Given the description of an element on the screen output the (x, y) to click on. 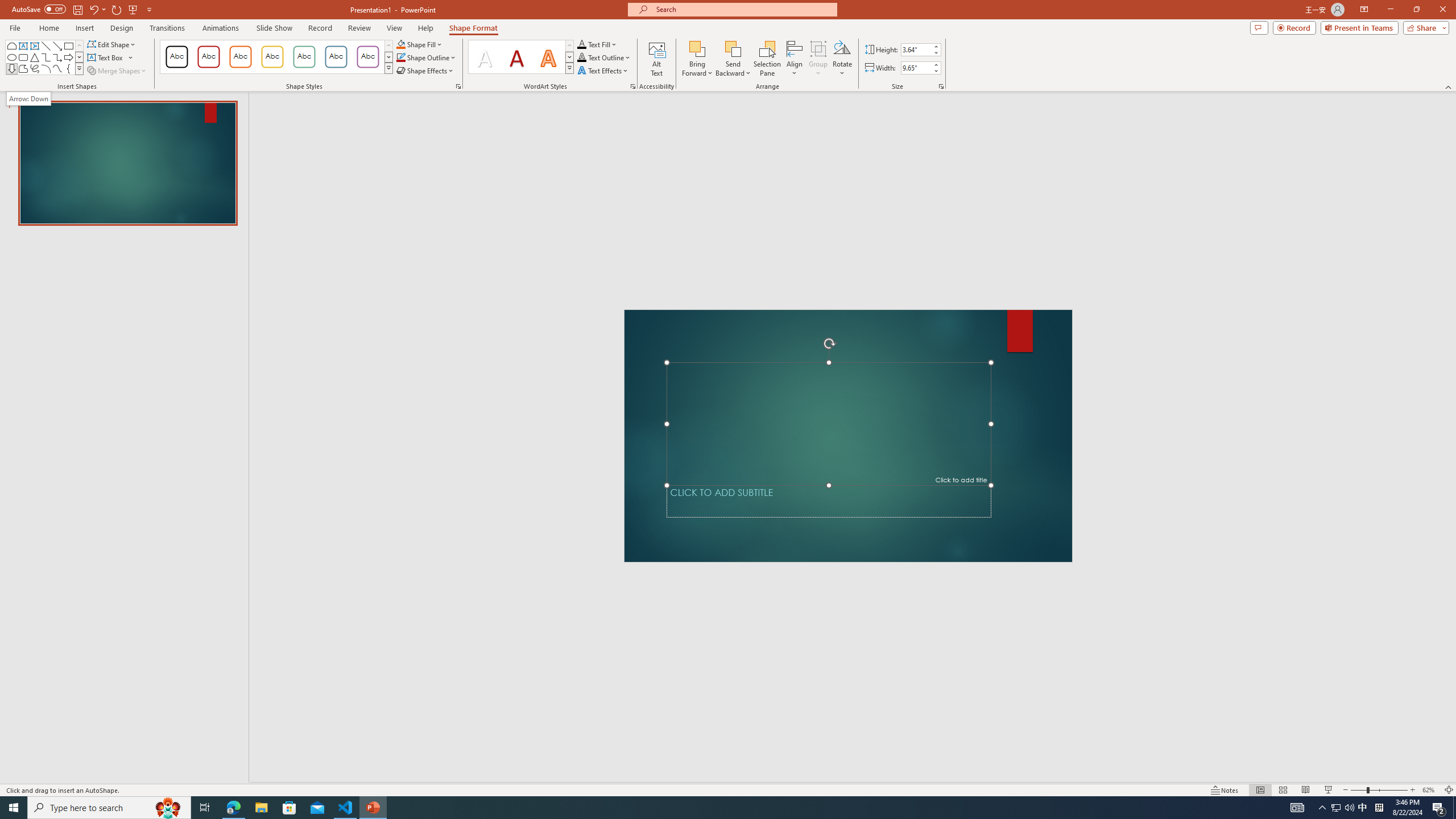
Fill: White, Text color 1; Shadow (484, 56)
Group (817, 58)
Bring Forward (697, 48)
Bring Forward (697, 58)
Subtitle TextBox (828, 500)
Fill: Dark Red, Accent color 1; Shadow (516, 56)
Text Outline RGB(0, 0, 0) (581, 56)
Shape Format (473, 28)
Rotate (841, 58)
Arrow: Down (11, 68)
Text Outline (604, 56)
